Given the description of an element on the screen output the (x, y) to click on. 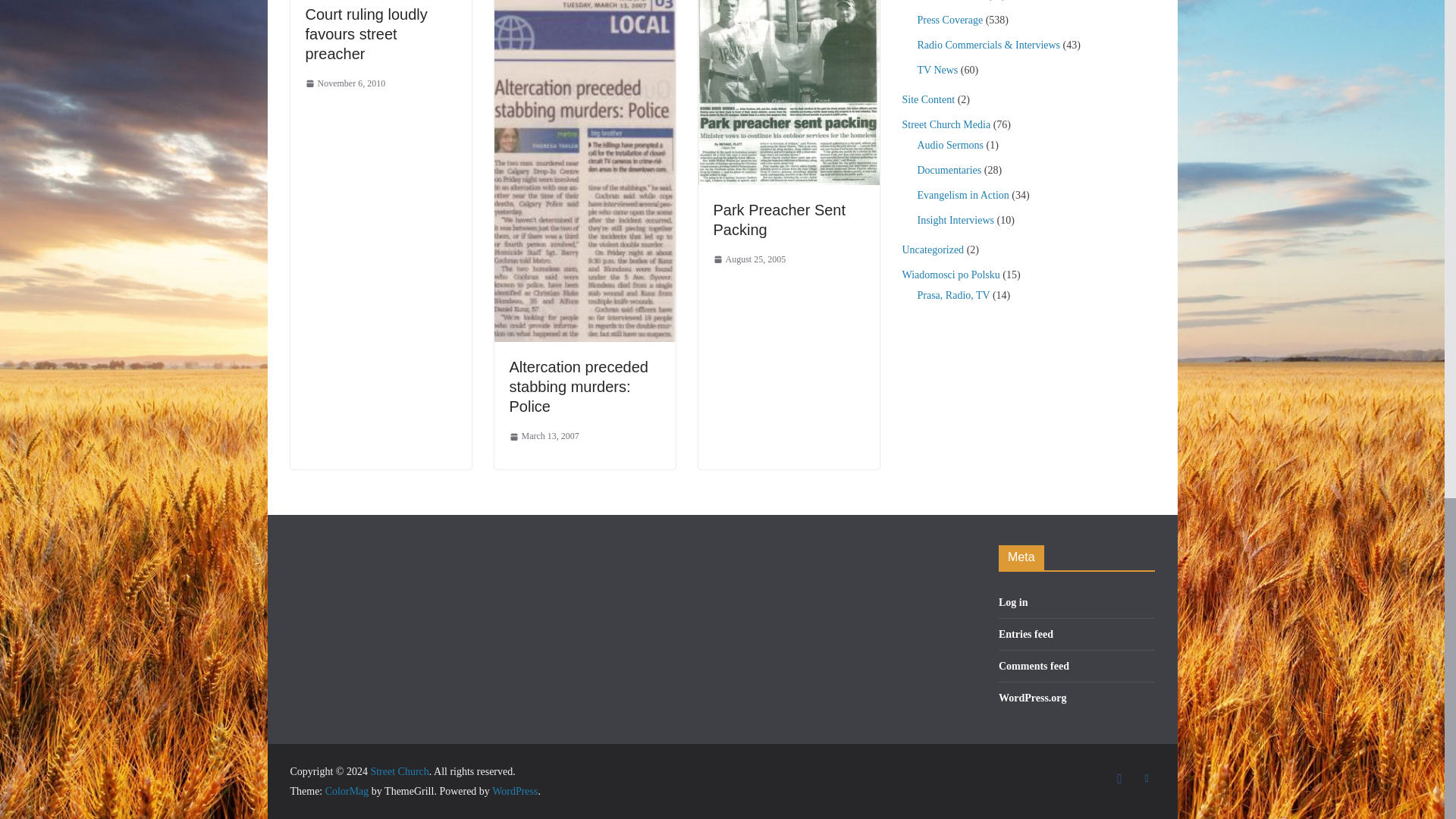
Park Preacher Sent Packing (779, 219)
Park Preacher Sent Packing (788, 2)
Altercation preceded stabbing murders: Police (578, 386)
2:00 am (544, 436)
7:00 pm (749, 259)
8:22 pm (344, 84)
Court ruling loudly favours street preacher (365, 33)
Altercation preceded stabbing murders: Police (585, 2)
March 13, 2007 (544, 436)
August 25, 2005 (749, 259)
Park Preacher Sent Packing (779, 219)
Altercation preceded stabbing murders: Police (578, 386)
Court ruling loudly favours street preacher (365, 33)
November 6, 2010 (344, 84)
